Given the description of an element on the screen output the (x, y) to click on. 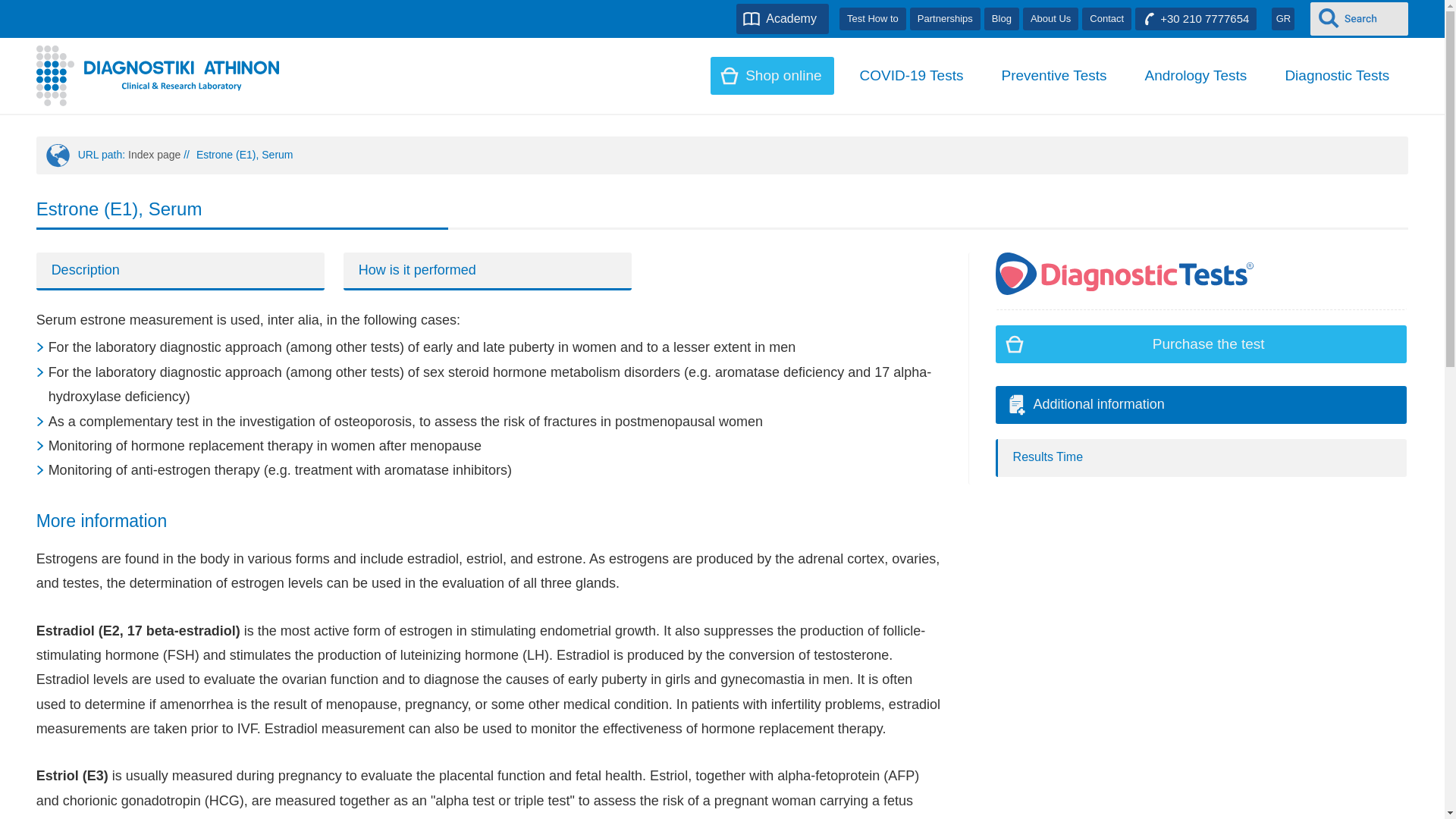
About Us (1050, 18)
GR (1282, 18)
Contact (1106, 18)
Blog (1001, 18)
